Given the description of an element on the screen output the (x, y) to click on. 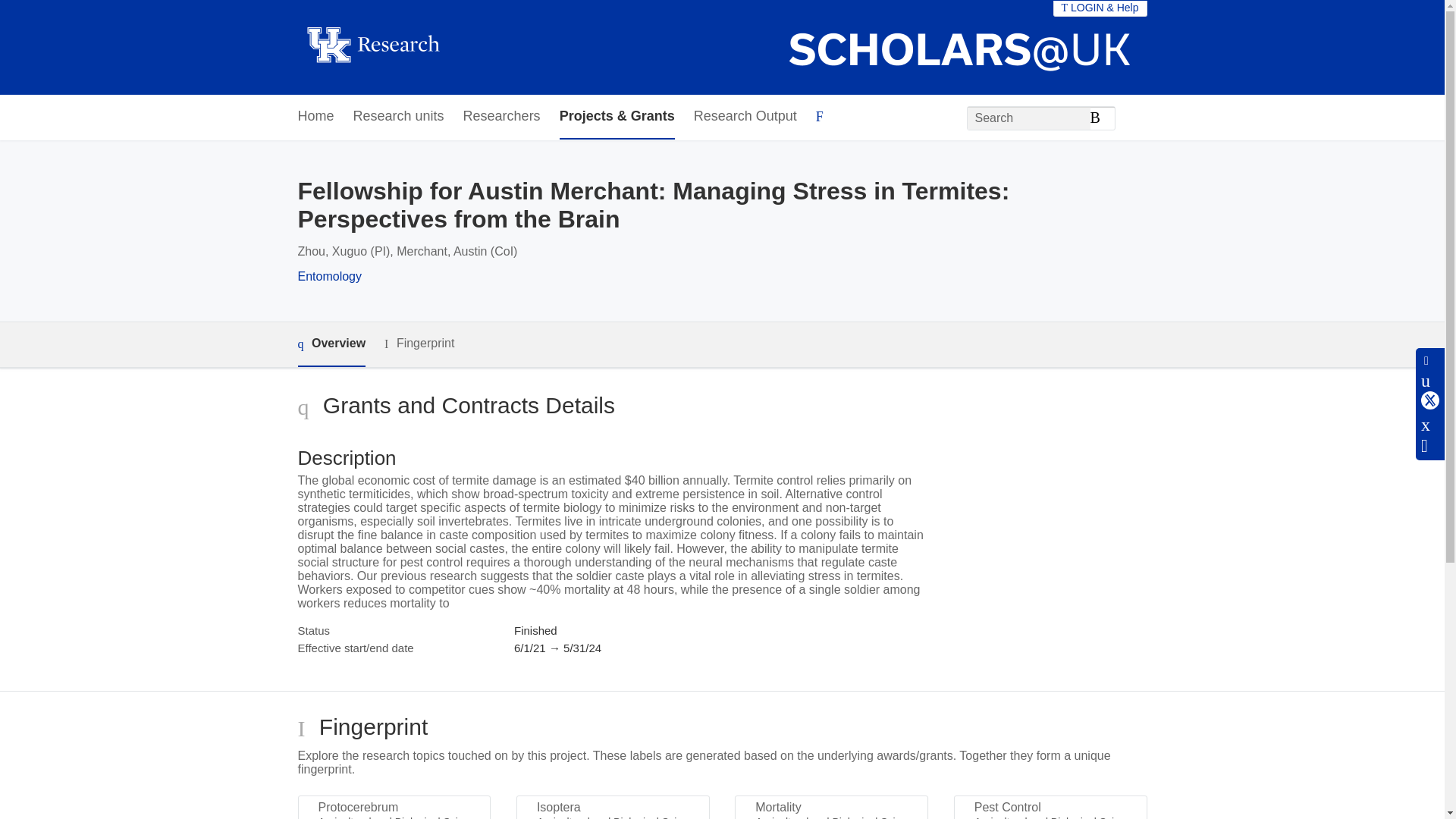
Researchers (501, 117)
Overview (331, 344)
Research units (398, 117)
University of Kentucky Home (372, 47)
Entomology (329, 276)
Research Output (745, 117)
Fingerprint (419, 343)
